Given the description of an element on the screen output the (x, y) to click on. 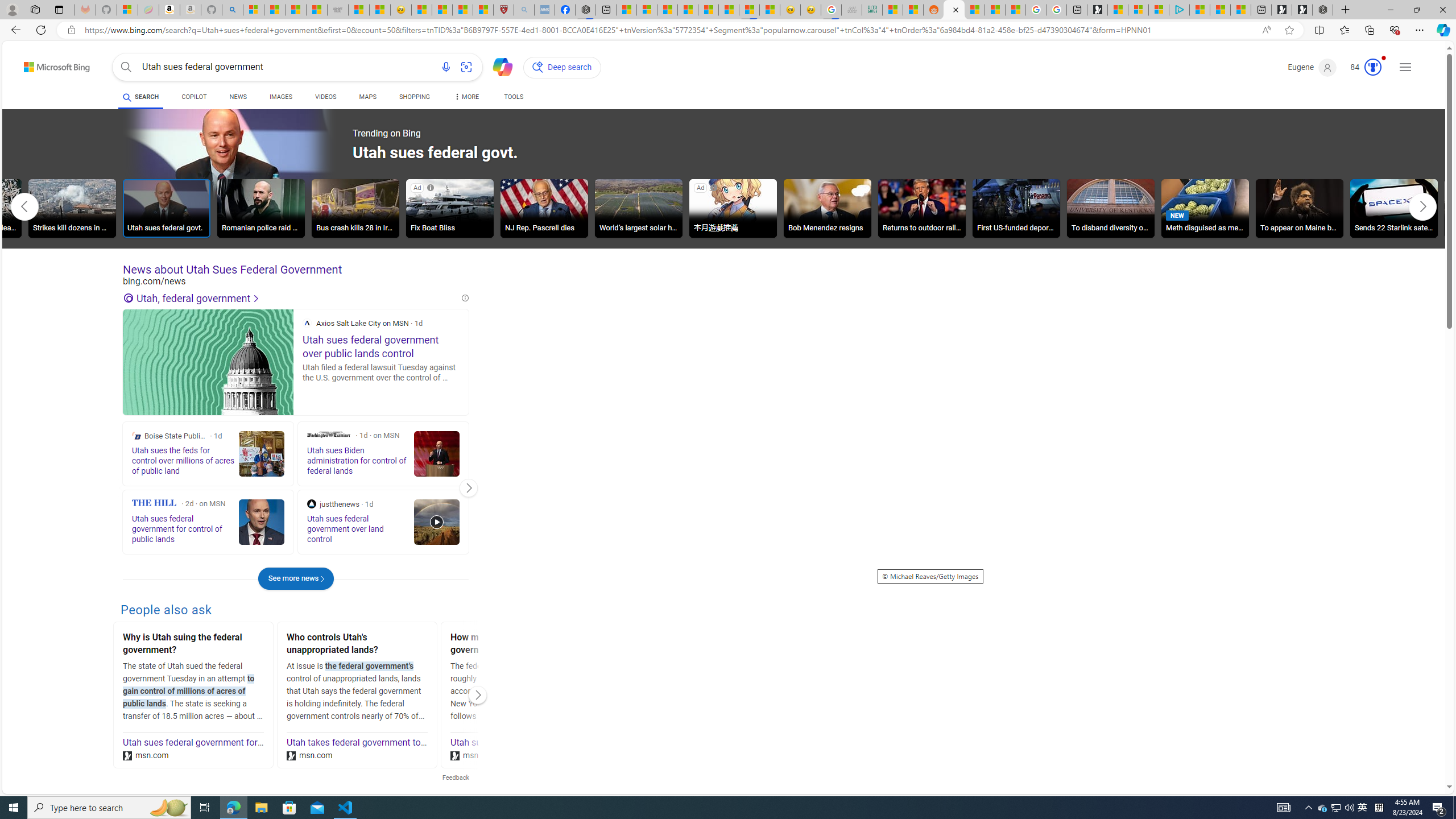
MORE (465, 98)
SEARCH (140, 96)
Utah, federal government (291, 298)
See more news (295, 578)
Romanian police raid home (260, 207)
Microsoft Rewards 84 (1362, 67)
